Given the description of an element on the screen output the (x, y) to click on. 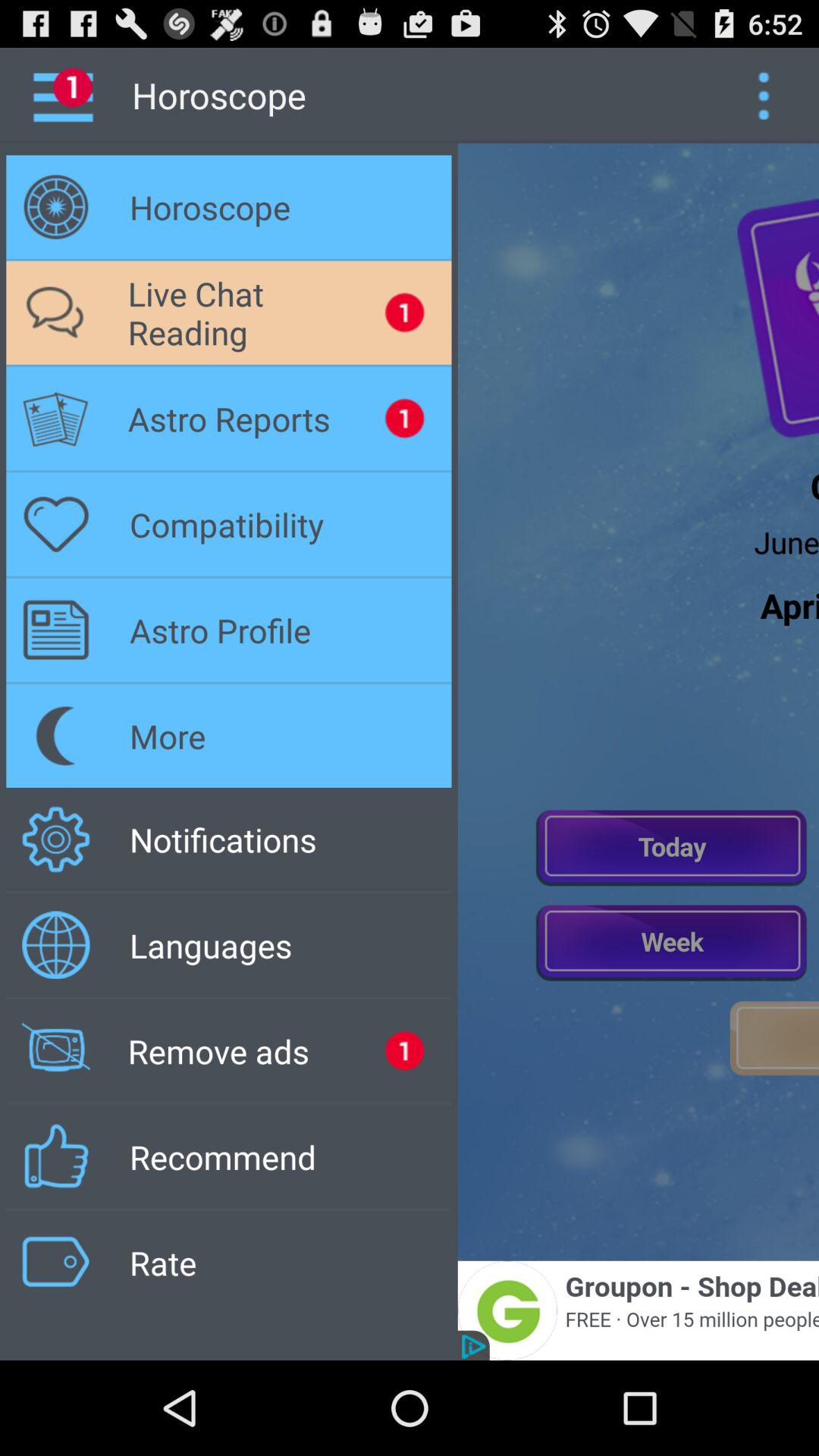
the menu icon from top left corner (74, 95)
go to recommend option icon on left side (56, 1156)
click on the sign which is beside horoscope (56, 207)
select the notification beside astro reports (404, 418)
click on the symbol which is to the left of astro profile (56, 629)
click on the chat icon which is left to the live chat reading button (56, 312)
red color 1 right to live chat option (404, 312)
